Given the description of an element on the screen output the (x, y) to click on. 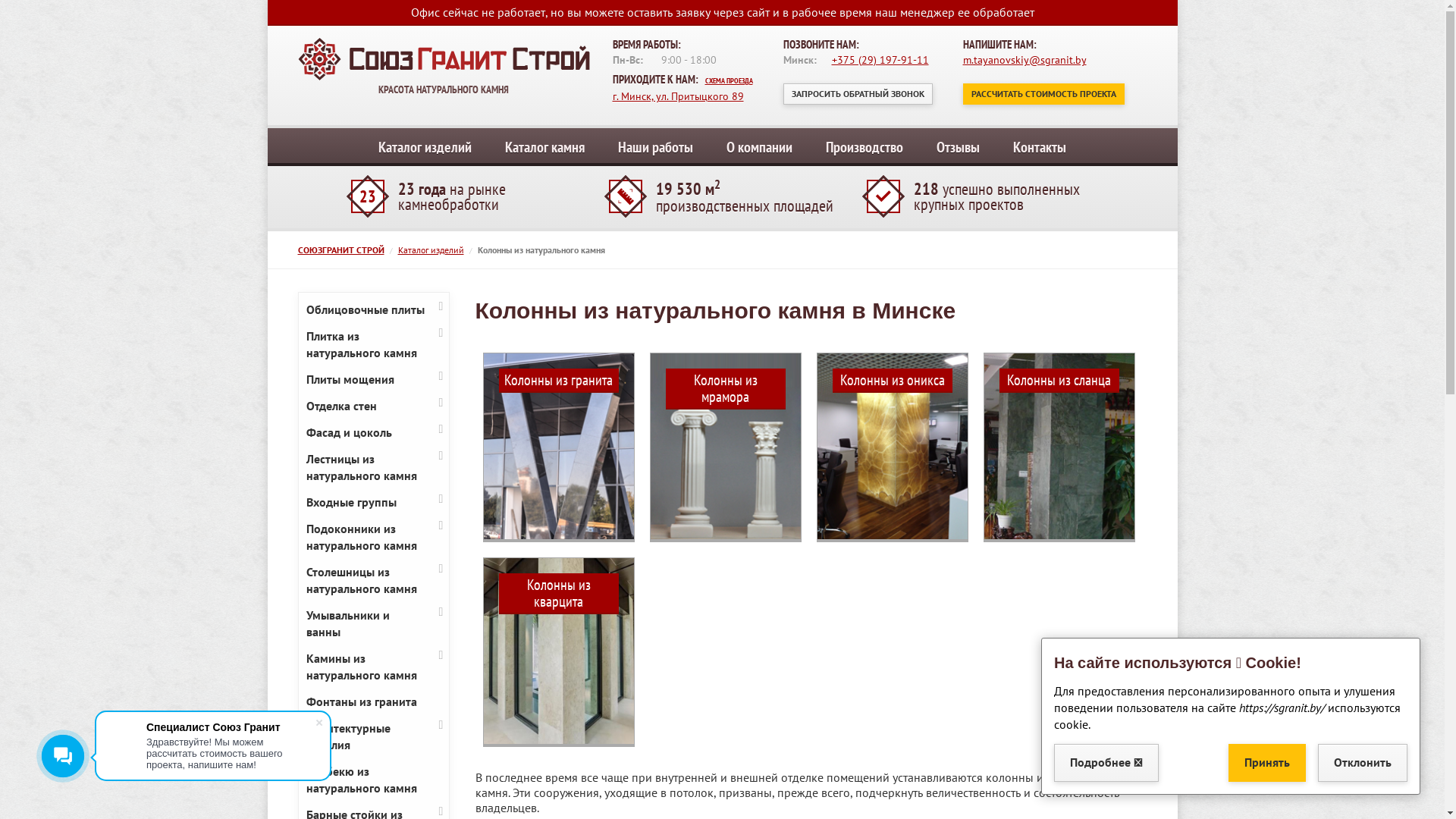
m.tayanovskiy@sgranit.by Element type: text (1024, 59)
+375 (29) 197-91-11 Element type: text (879, 59)
